Given the description of an element on the screen output the (x, y) to click on. 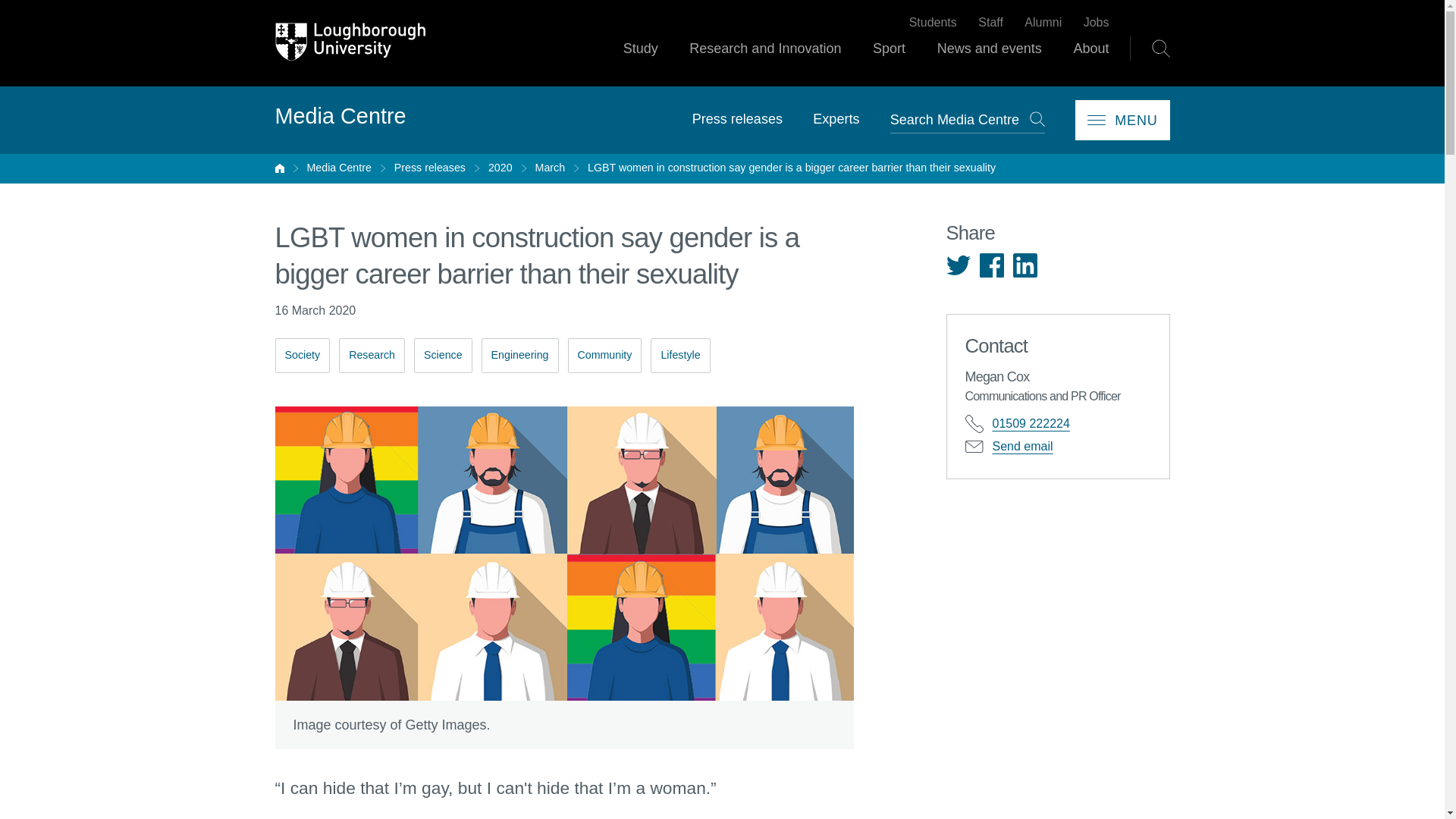
Research and Innovation (764, 61)
Media Centre (340, 116)
University home (279, 167)
Go (1037, 118)
Media Centre (338, 168)
News and events (989, 61)
Loughborough University (350, 41)
Press releases (429, 168)
Experts (835, 119)
MENU (1122, 119)
